Given the description of an element on the screen output the (x, y) to click on. 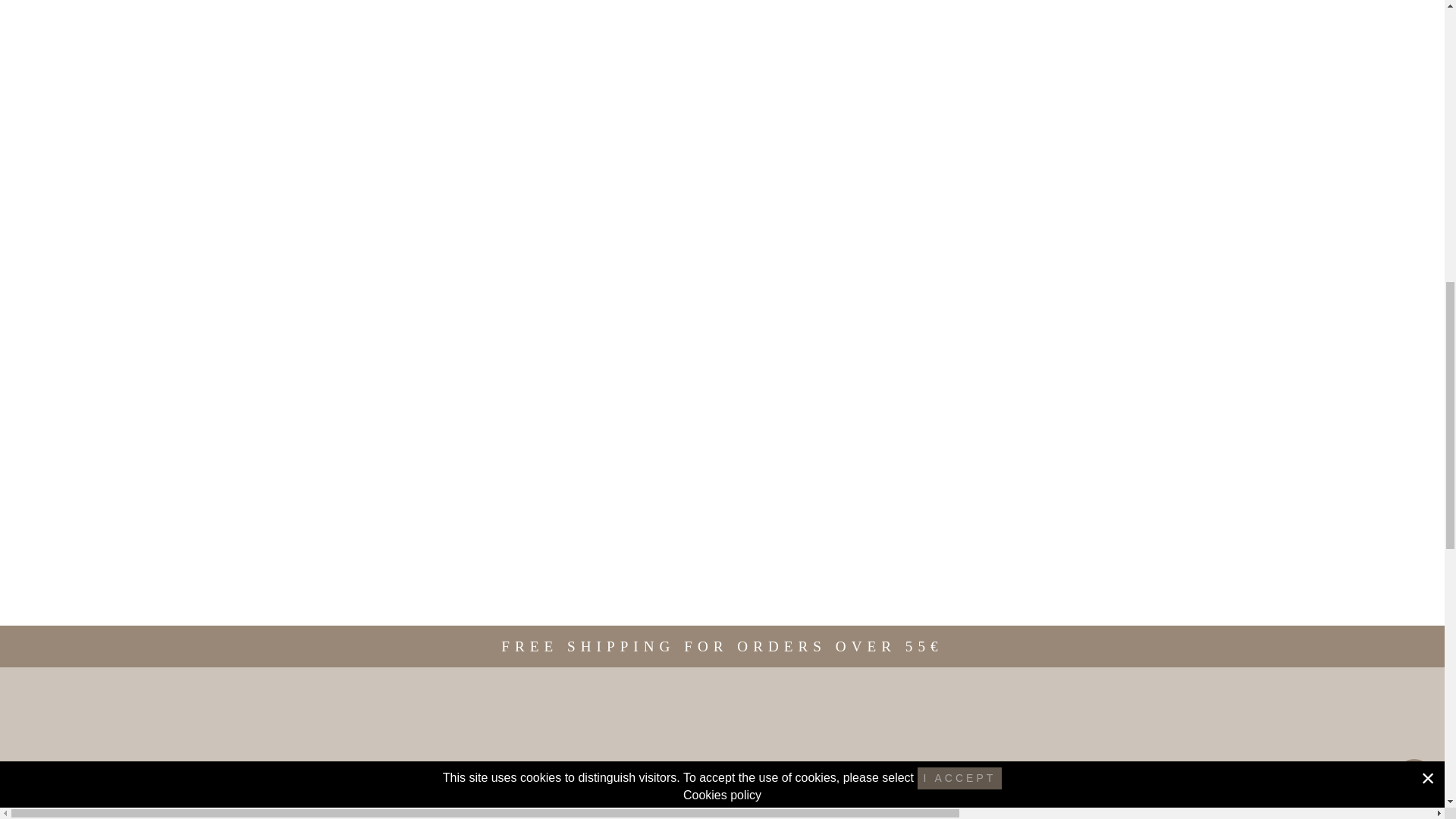
ARTEON (722, 193)
LOISIR (722, 17)
KRAMA JEWELS (722, 602)
ARTCOLLECTION (722, 147)
LifeLikes (722, 465)
PRINCE (722, 102)
EXNOVO (722, 284)
DESPERATE DESIGN (722, 238)
KALLIOPE handmade jewelry (722, 329)
THE PENGUIN Handmade Stories (722, 420)
OPUS 4 (722, 556)
VISETTI (722, 56)
art7702 (722, 375)
